Given the description of an element on the screen output the (x, y) to click on. 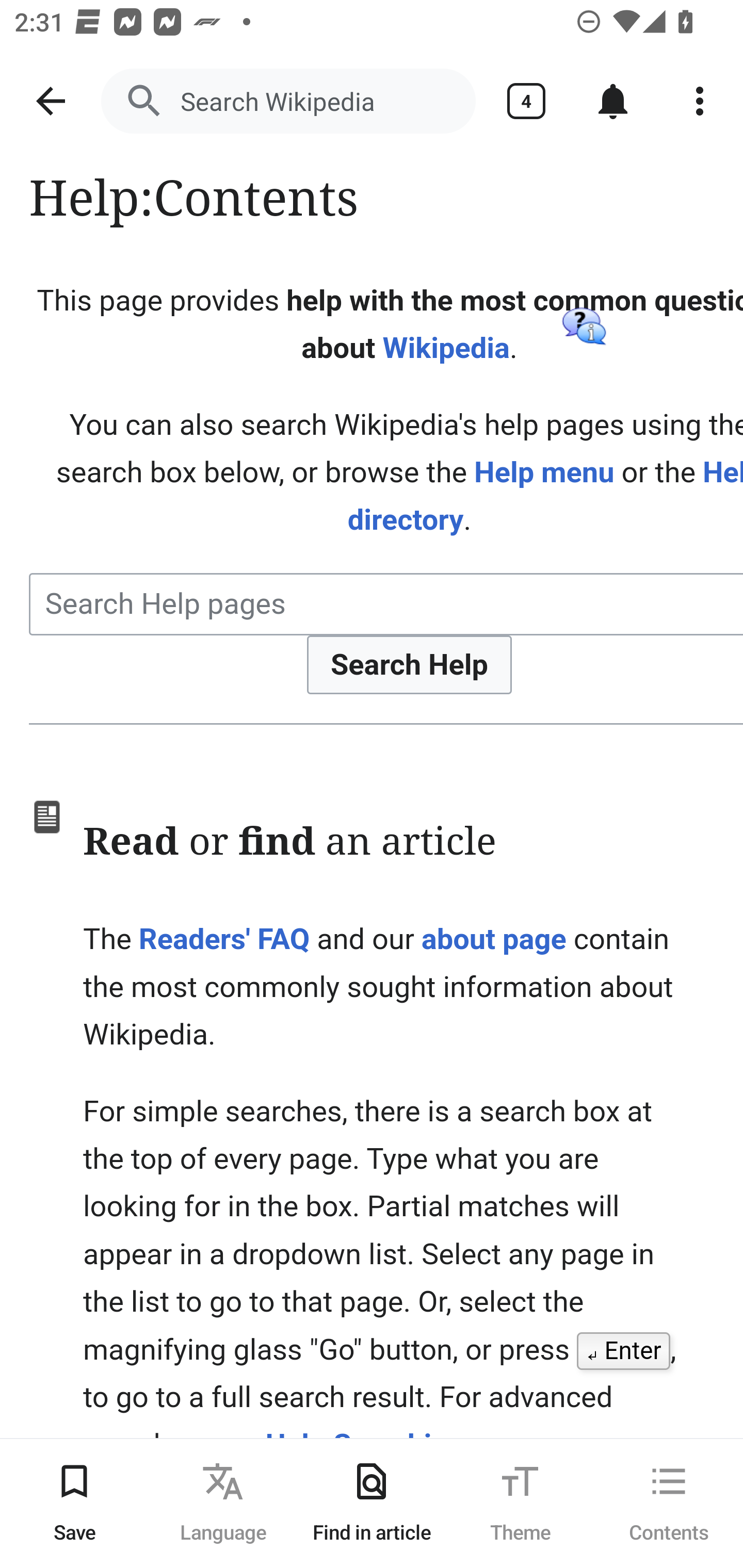
Show tabs 4 (525, 100)
Notifications (612, 100)
Navigate up (50, 101)
More options (699, 101)
Search Wikipedia (288, 100)
Wikipedia (445, 348)
Help directory (544, 495)
Help menu (544, 472)
Search Help (409, 663)
Readers' FAQ (223, 939)
about page (493, 939)
Save (74, 1502)
Language (222, 1502)
Find in article (371, 1502)
Theme (519, 1502)
Contents (668, 1502)
